Given the description of an element on the screen output the (x, y) to click on. 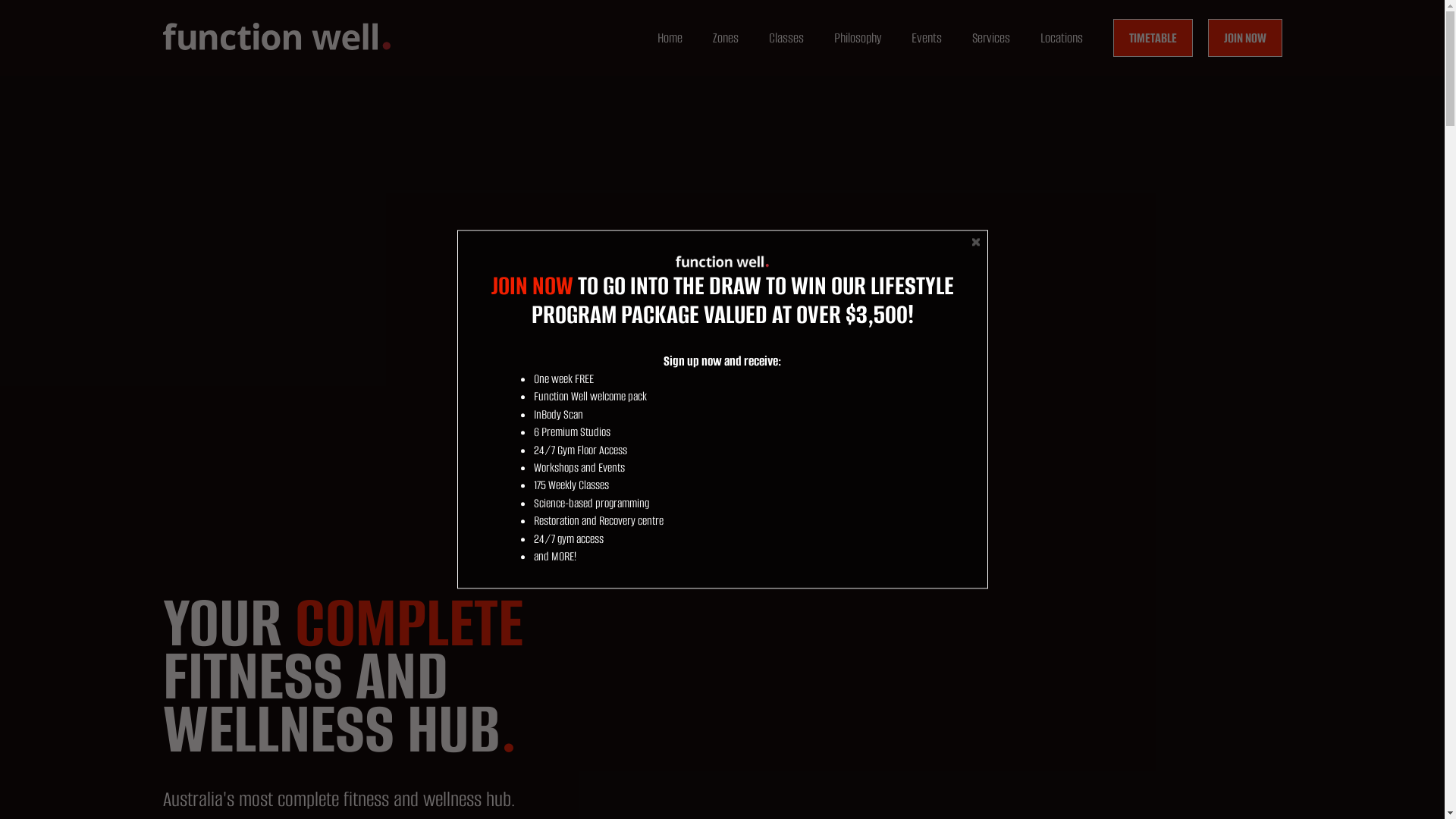
Events Element type: text (926, 37)
TIMETABLE Element type: text (1152, 37)
Classes Element type: text (786, 37)
Philosophy Element type: text (857, 37)
Home Element type: text (668, 37)
JOIN NOW Element type: text (1244, 37)
JOIN NOW Element type: text (532, 285)
Locations Element type: text (1061, 37)
Services Element type: text (991, 37)
Zones Element type: text (725, 37)
Close Element type: hover (975, 241)
